Given the description of an element on the screen output the (x, y) to click on. 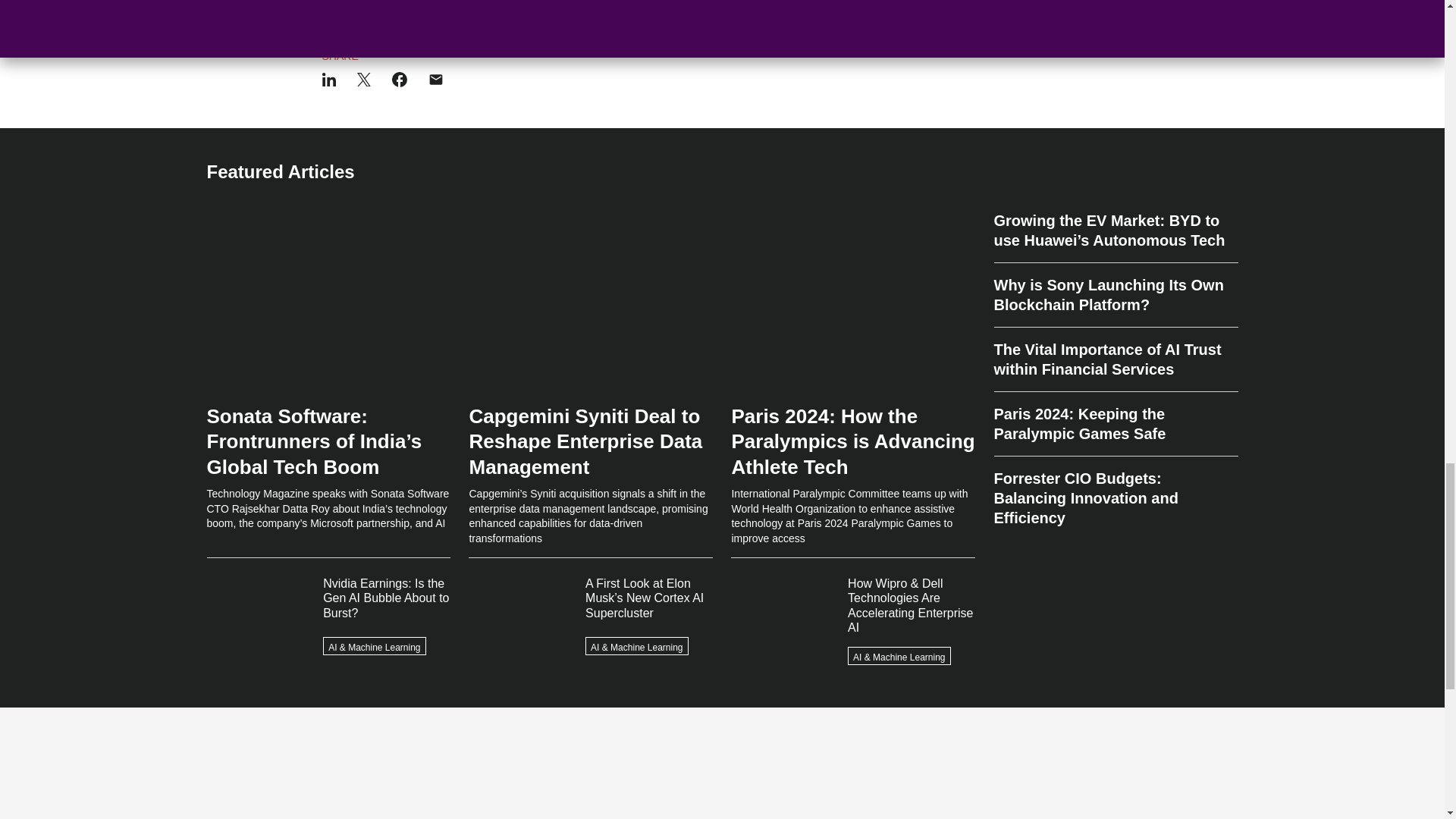
GSMA (338, 2)
IOT (480, 2)
Paris 2024: Keeping the Paralympic Games Safe (1114, 424)
Forrester CIO Budgets: Balancing Innovation and Efficiency (1114, 491)
REPORT (387, 2)
The Vital Importance of AI Trust within Financial Services (1114, 359)
SURVEY (439, 2)
Why is Sony Launching Its Own Blockchain Platform? (1114, 294)
